Given the description of an element on the screen output the (x, y) to click on. 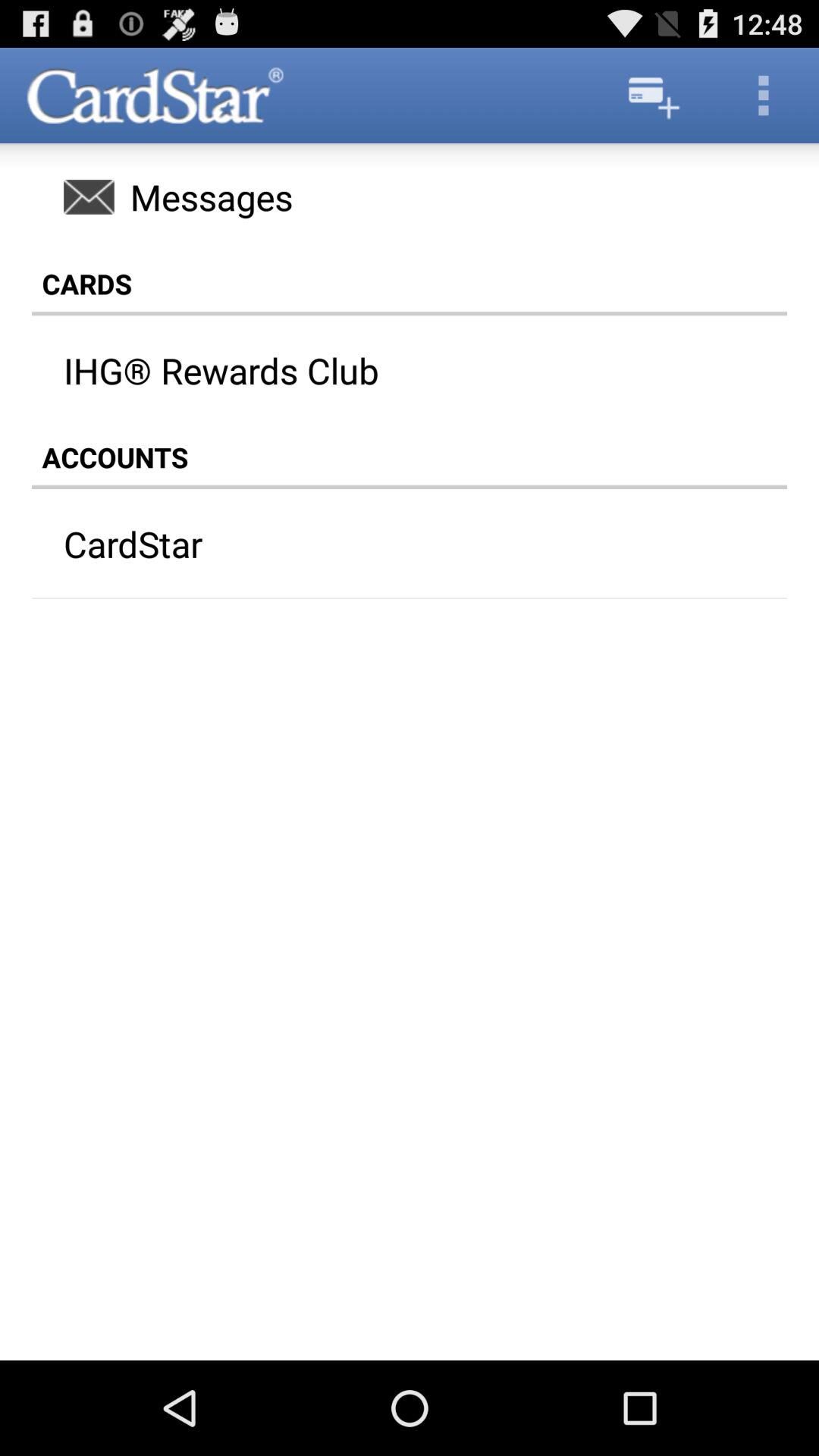
press the item above cards item (409, 196)
